Given the description of an element on the screen output the (x, y) to click on. 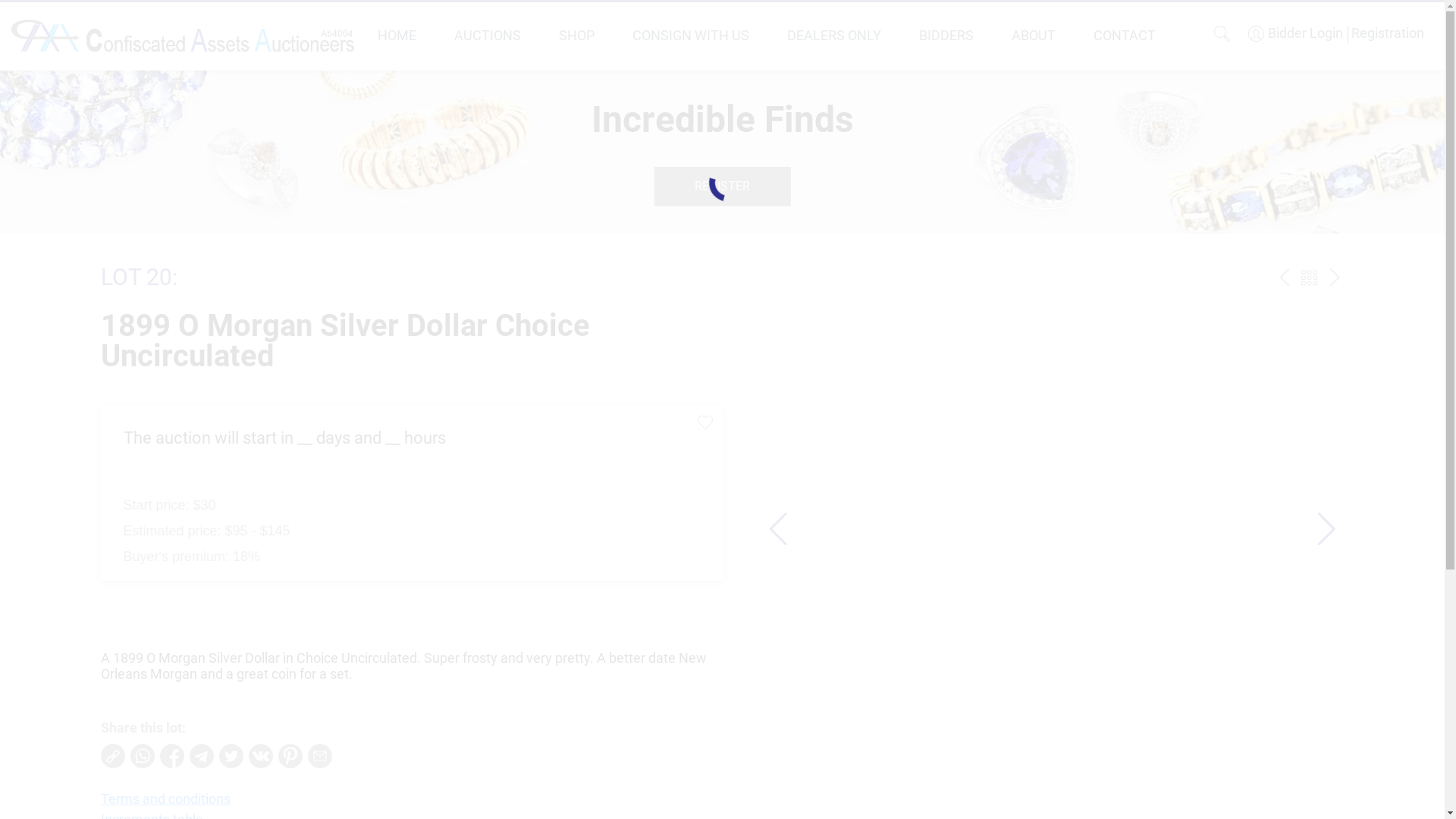
ABOUT Element type: text (1033, 34)
Terms and conditions Element type: text (164, 798)
AUCTIONS Element type: text (487, 34)
INCREDIBLE FINDS Element type: text (1308, 277)
REGISTER Element type: text (721, 185)
Bidder Login Element type: text (1295, 33)
SHOP Element type: text (576, 34)
CONTACT Element type: text (1124, 34)
BIDDERS Element type: text (946, 34)
CONSIGN WITH US Element type: text (690, 34)
DEALERS ONLY Element type: text (834, 34)
NEXT Element type: text (1334, 277)
Registration Element type: text (1385, 32)
PREV Element type: text (1284, 277)
HOME Element type: text (396, 34)
